Given the description of an element on the screen output the (x, y) to click on. 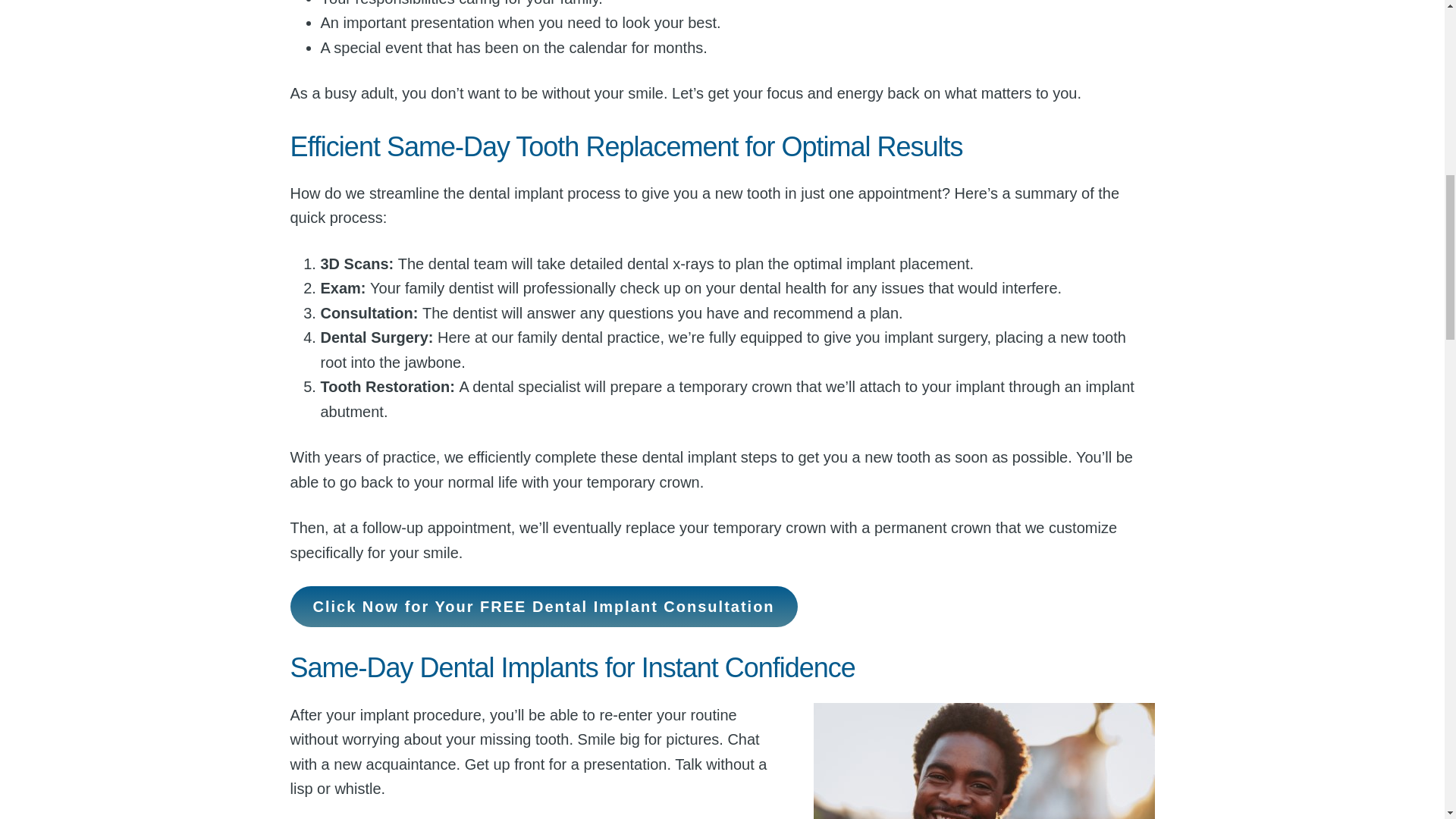
Same-Day Tooth Replacement 2 (983, 760)
